Given the description of an element on the screen output the (x, y) to click on. 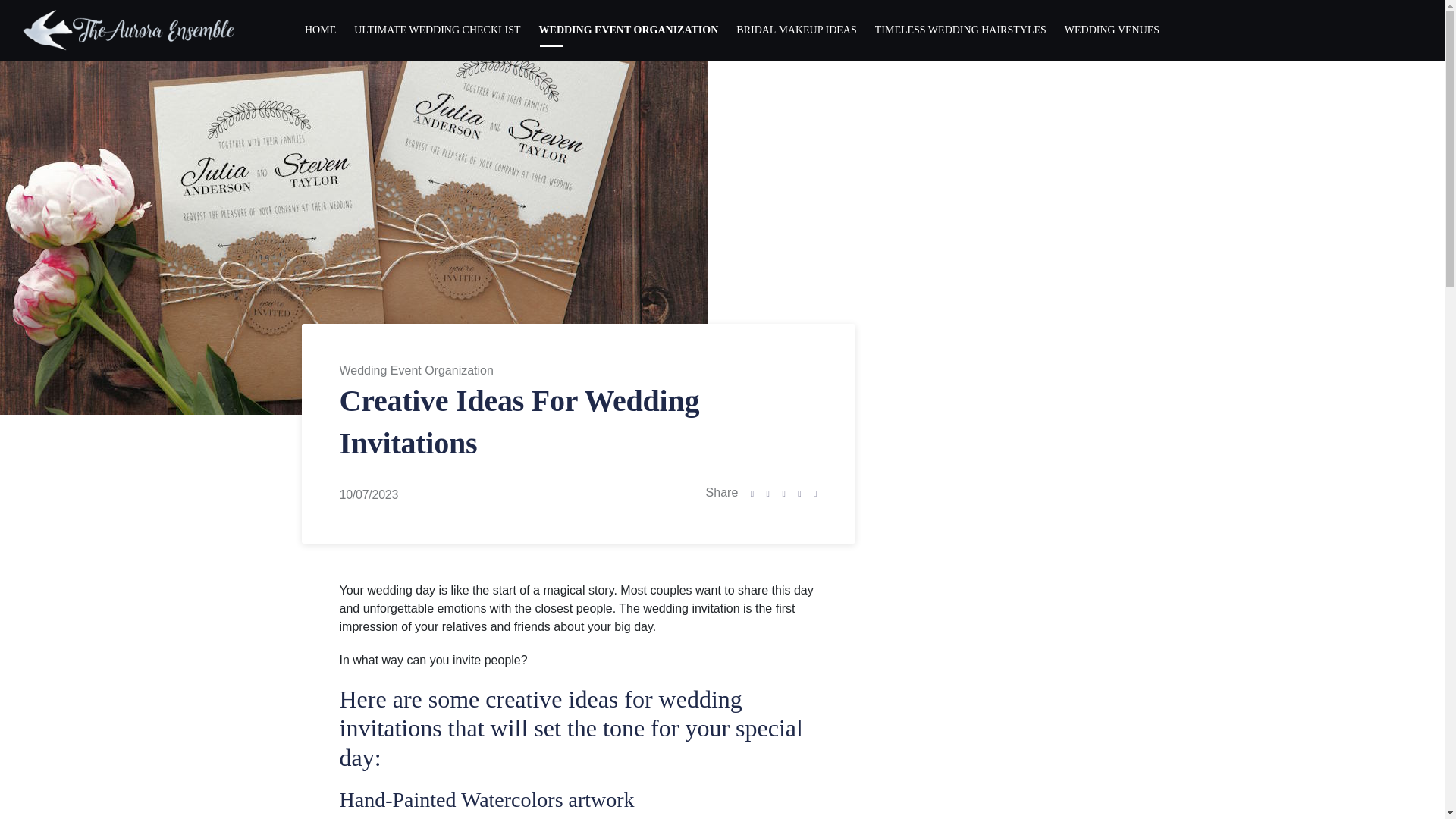
TIMELESS WEDDING HAIRSTYLES (960, 30)
Wedding Event Organization (416, 369)
Logo (128, 29)
ULTIMATE WEDDING CHECKLIST (437, 30)
WEDDING EVENT ORGANIZATION (628, 30)
HOME (320, 30)
BRIDAL MAKEUP IDEAS (795, 30)
WEDDING VENUES (1112, 30)
